Given the description of an element on the screen output the (x, y) to click on. 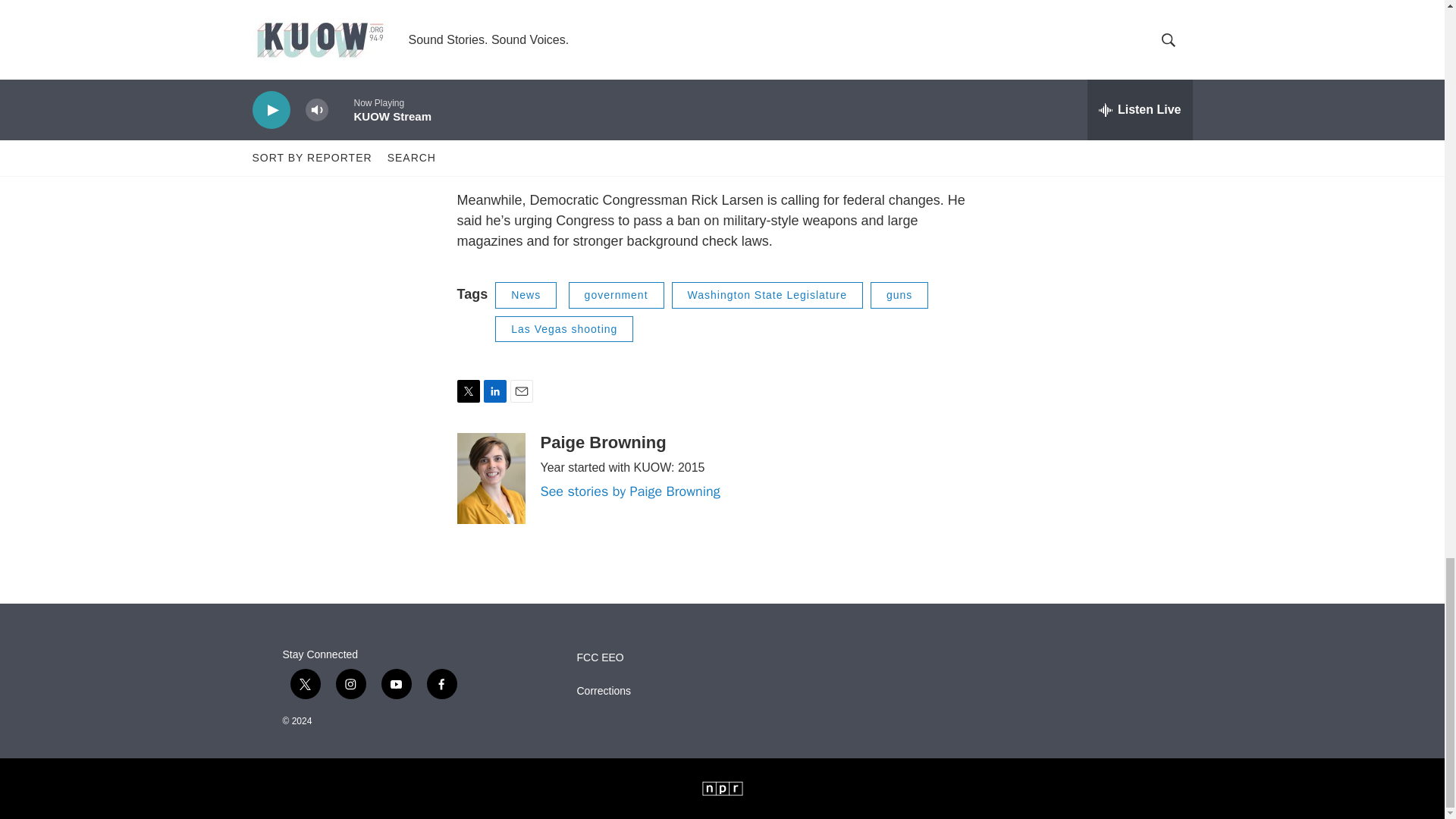
Email (520, 391)
Las Vegas shooting (564, 329)
guns (899, 294)
LinkedIn (494, 391)
twitter (304, 684)
government (616, 294)
Washington State Legislature (767, 294)
See stories by Paige Browning (629, 491)
Twitter (468, 391)
News (525, 294)
Paige Browning (602, 442)
